Given the description of an element on the screen output the (x, y) to click on. 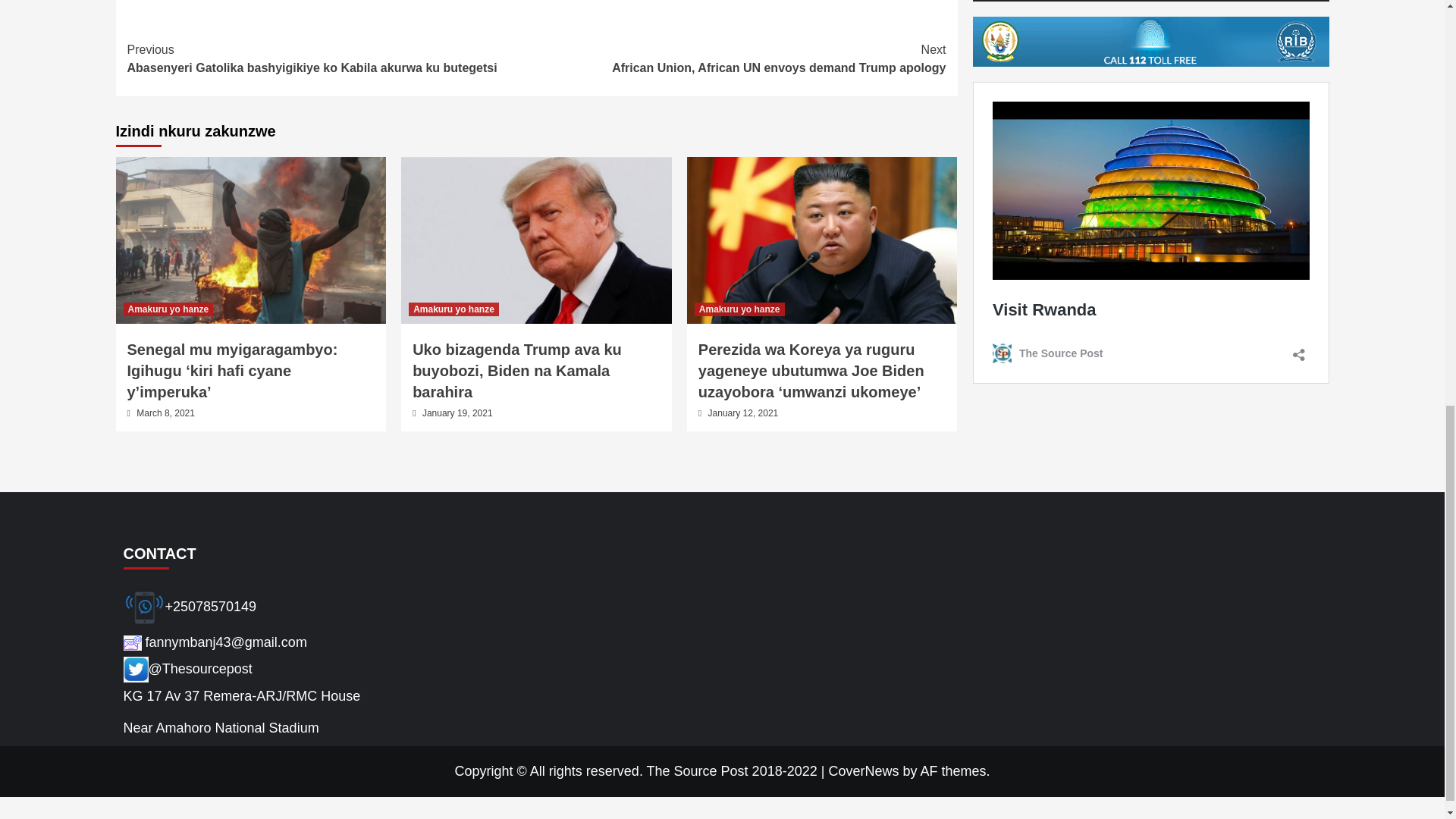
January 19, 2021 (457, 412)
Amakuru yo hanze (454, 309)
Amakuru yo hanze (167, 309)
Amakuru yo hanze (739, 309)
March 8, 2021 (165, 412)
January 12, 2021 (741, 58)
